Given the description of an element on the screen output the (x, y) to click on. 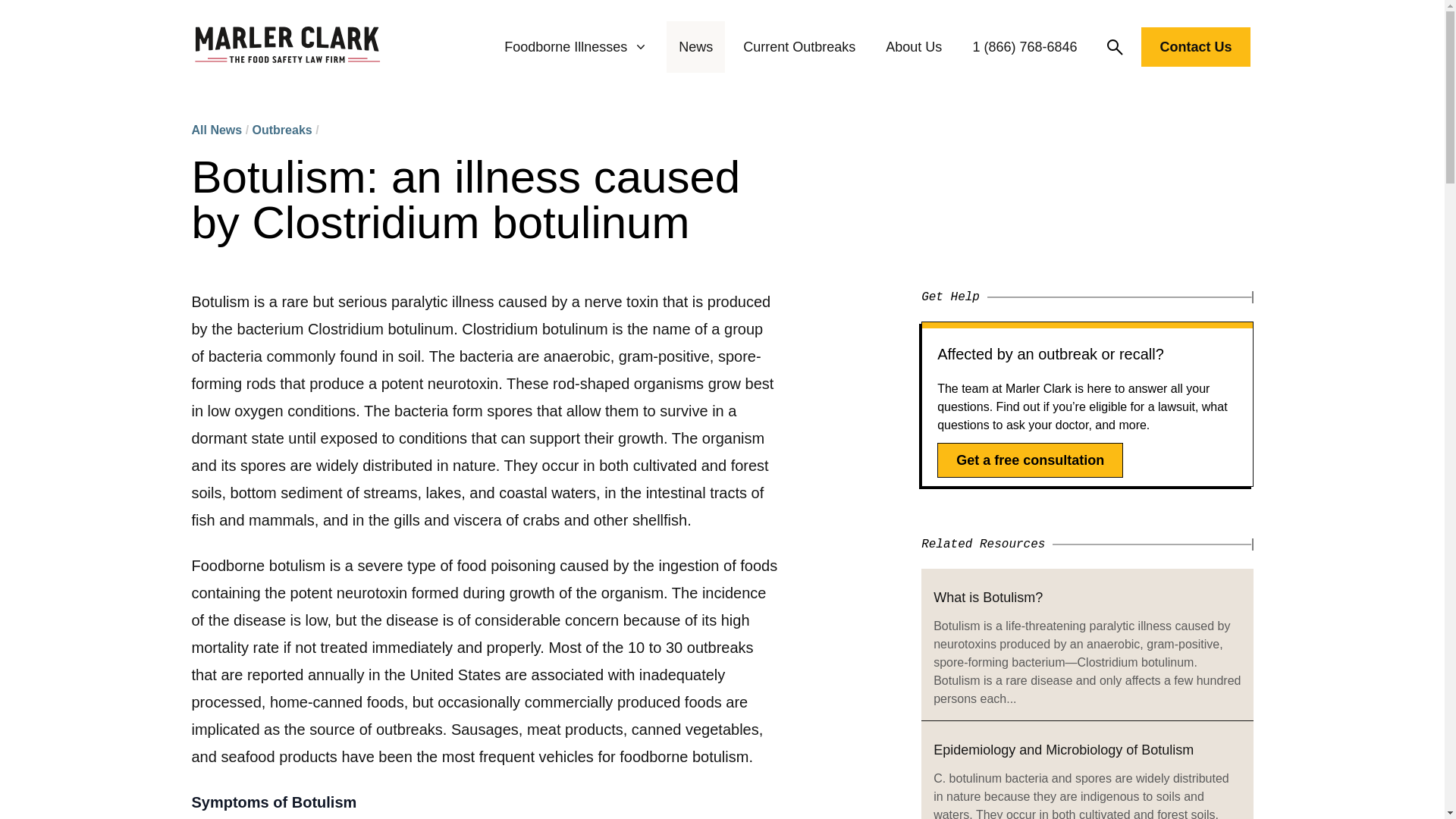
Contact Us (1195, 49)
All News (215, 129)
About Us (913, 46)
Foodborne Illnesses (576, 46)
Marler Clark (286, 46)
Current Outbreaks (799, 46)
News (695, 46)
Contact Us (1195, 46)
Outbreaks (282, 129)
